Given the description of an element on the screen output the (x, y) to click on. 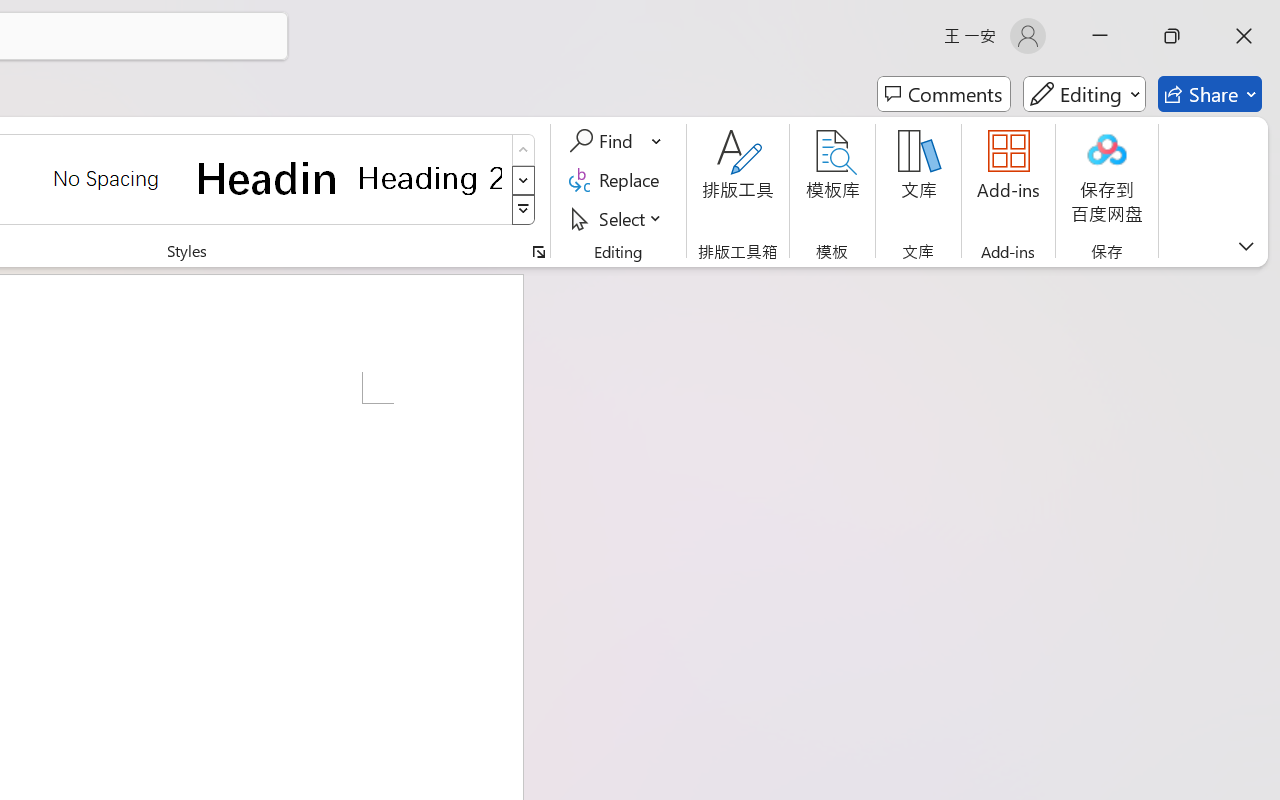
Styles... (538, 252)
Replace... (617, 179)
Row up (523, 150)
Row Down (523, 180)
